Given the description of an element on the screen output the (x, y) to click on. 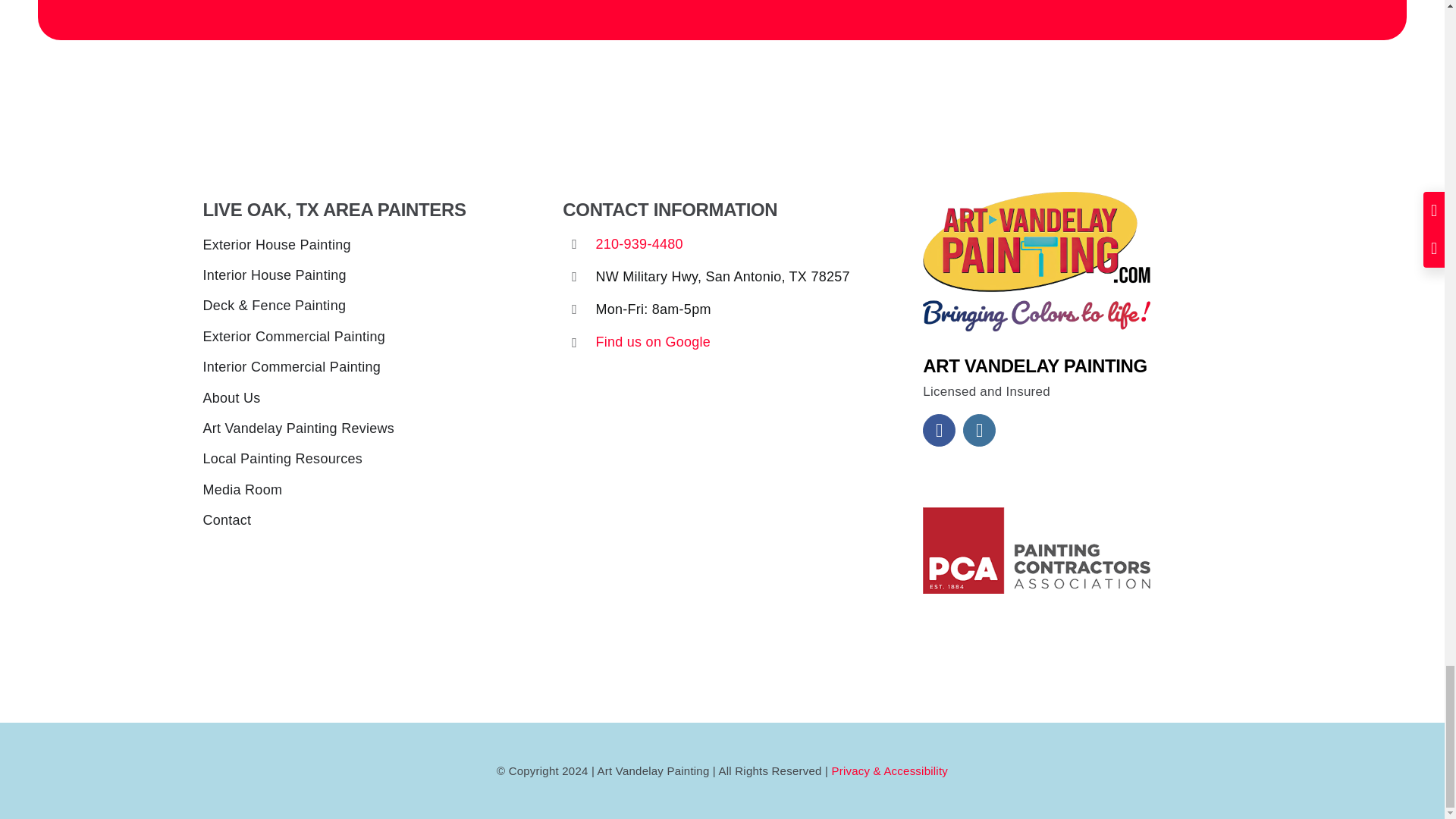
Facebook (939, 430)
Painting Contractors Association (1036, 549)
Instagram (978, 430)
